Given the description of an element on the screen output the (x, y) to click on. 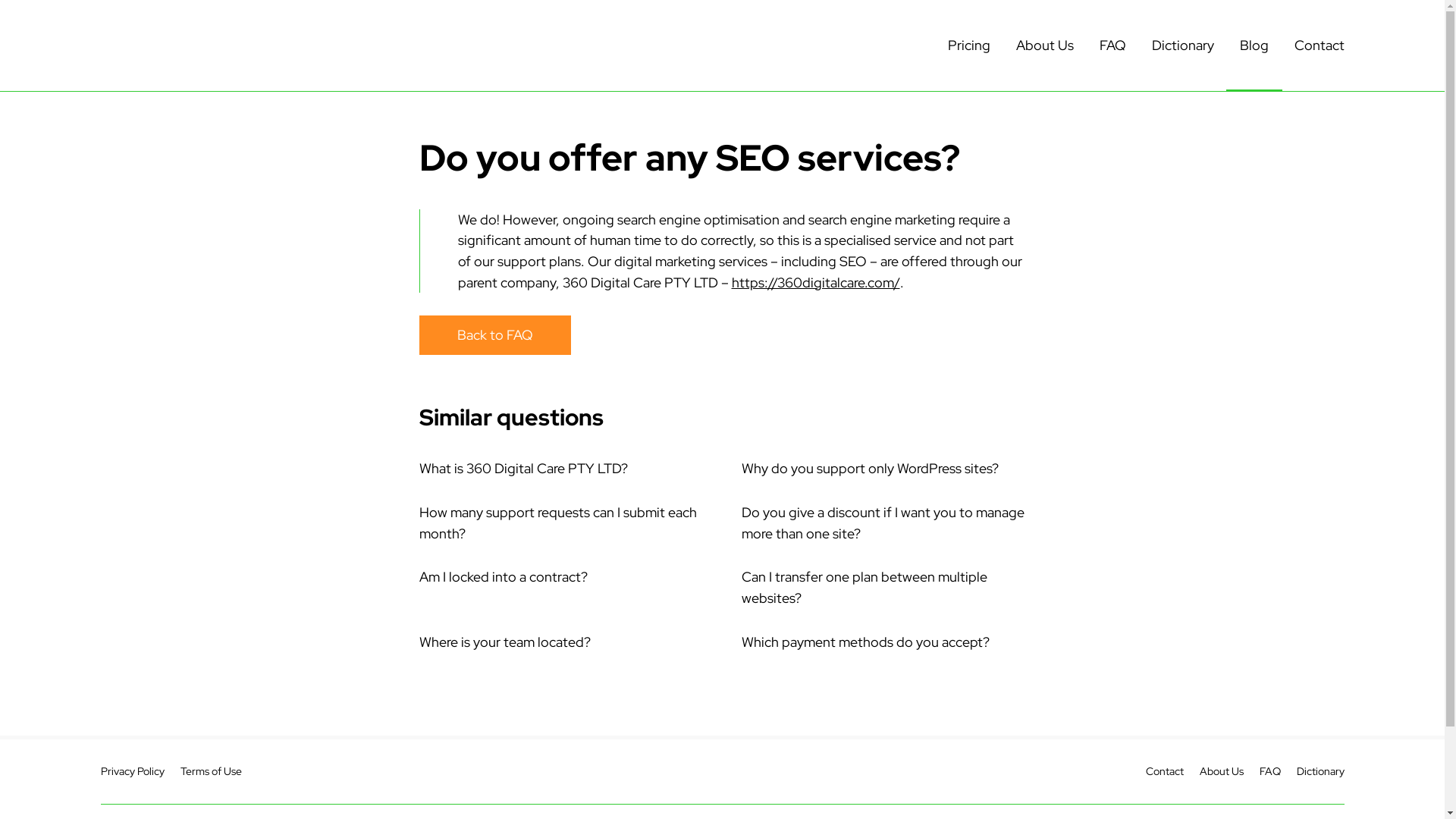
What is 360 Digital Care PTY LTD? Element type: text (522, 467)
Pricing Element type: text (968, 45)
About Us Element type: text (1044, 45)
Blog Element type: text (1253, 45)
Which payment methods do you accept? Element type: text (865, 641)
Dictionary Element type: text (1320, 771)
How many support requests can I submit each month? Element type: text (557, 522)
FAQ Element type: text (1112, 45)
Contact Element type: text (1318, 45)
360WebCare Element type: text (213, 45)
https://360digitalcare.com/ Element type: text (815, 282)
About Us Element type: text (1221, 771)
Contact Element type: text (1164, 771)
Dictionary Element type: text (1182, 45)
Am I locked into a contract? Element type: text (502, 576)
Terms of Use Element type: text (210, 771)
Where is your team located? Element type: text (503, 641)
Back to FAQ Element type: text (494, 334)
FAQ Element type: text (1269, 771)
Can I transfer one plan between multiple websites? Element type: text (864, 586)
Why do you support only WordPress sites? Element type: text (869, 467)
Privacy Policy Element type: text (131, 771)
